Given the description of an element on the screen output the (x, y) to click on. 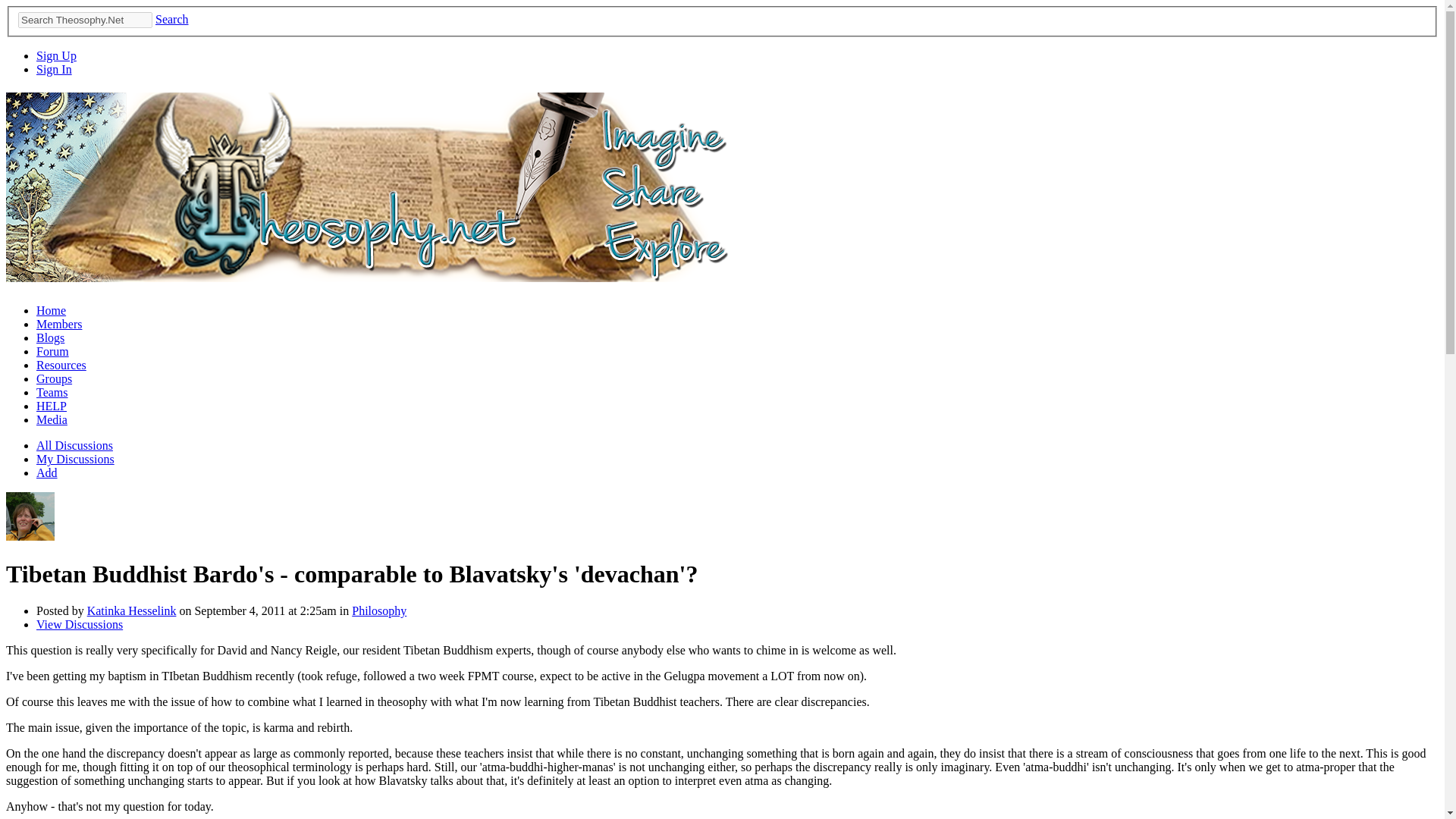
Search Theosophy.Net (84, 19)
Philosophy (379, 610)
Sign In (53, 69)
All Discussions (74, 445)
Media (51, 419)
Members (58, 323)
Search Theosophy.Net (84, 19)
View Discussions (79, 624)
My Discussions (75, 459)
Add (47, 472)
